Given the description of an element on the screen output the (x, y) to click on. 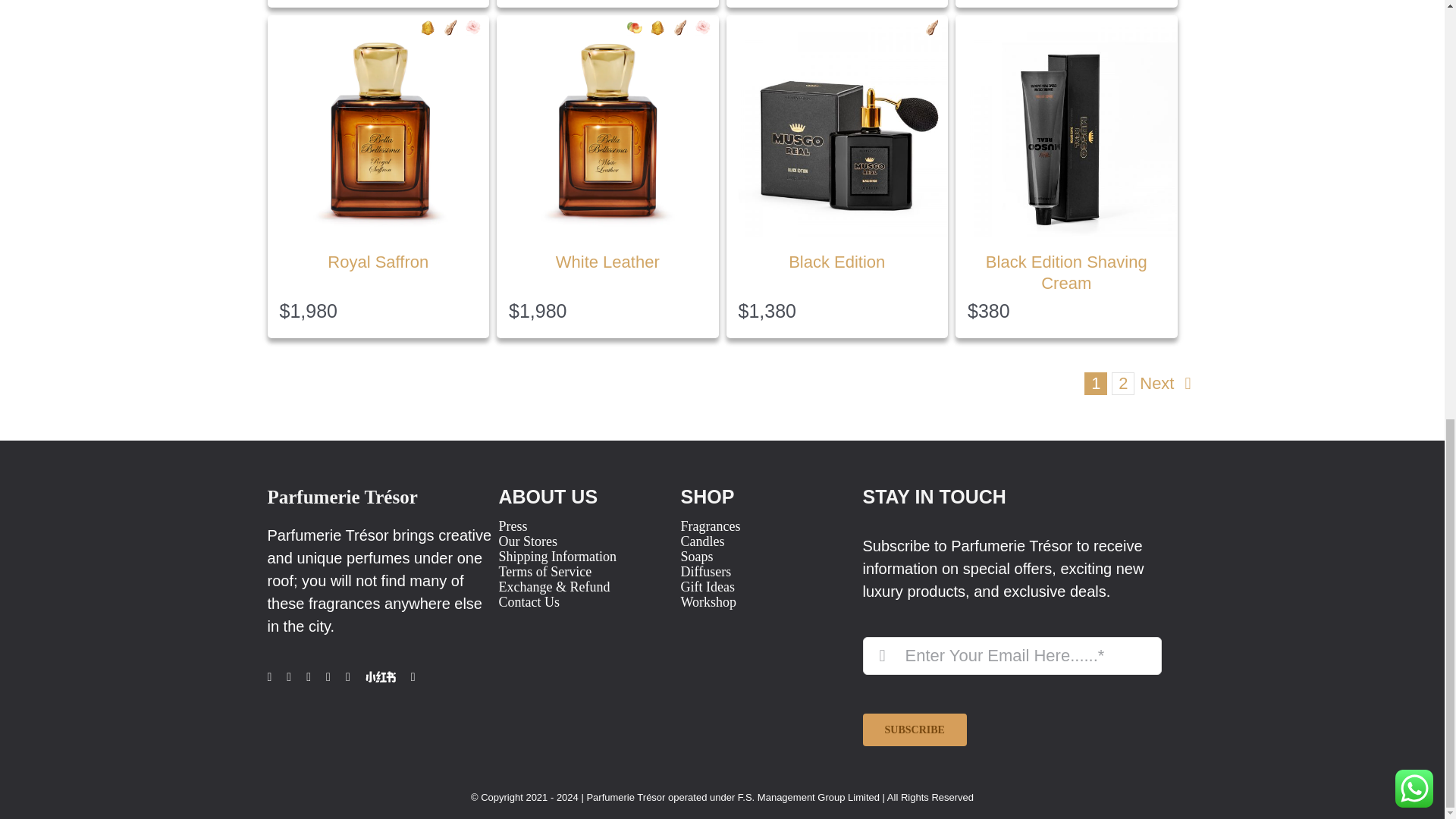
SUBSCRIBE (1012, 691)
